Given the description of an element on the screen output the (x, y) to click on. 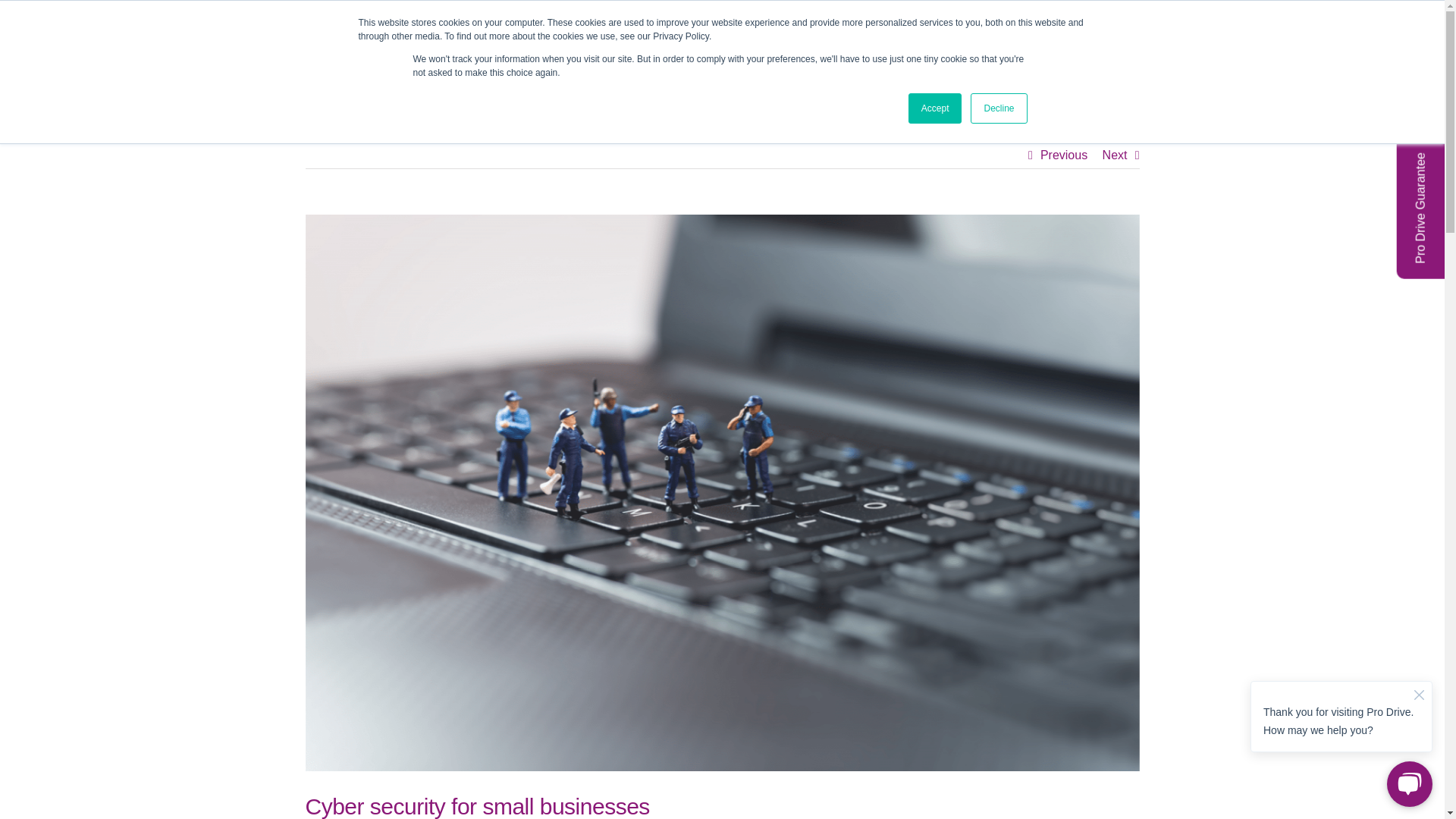
RESOURCES (1048, 67)
Decline (998, 108)
GET HELP (1105, 17)
WHAT WE DO (778, 67)
Accept (935, 108)
WHO WE HELP (882, 67)
